Given the description of an element on the screen output the (x, y) to click on. 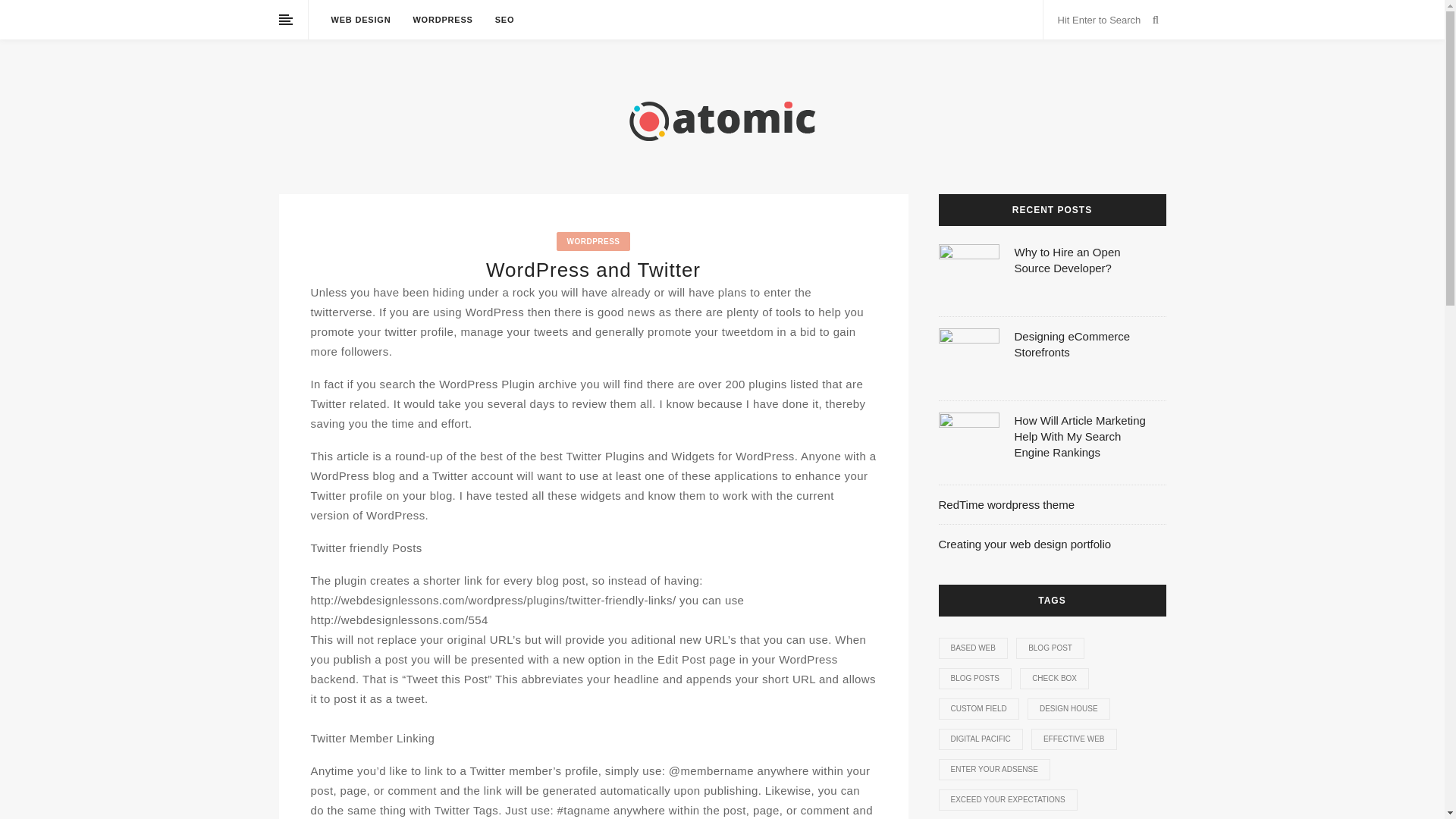
SEO (505, 19)
WORDPRESS (593, 241)
Hit Enter to Search (1101, 20)
BASED WEB (973, 648)
WEB DESIGN (360, 19)
Hit Enter to Search (1101, 20)
Creating your web design portfolio (1025, 543)
Designing eCommerce Storefronts (1072, 344)
BLOG POST (1050, 648)
BLOG POSTS (975, 678)
WORDPRESS (441, 19)
RedTime wordpress theme (1007, 504)
Why to Hire an Open Source Developer? (1067, 259)
